Given the description of an element on the screen output the (x, y) to click on. 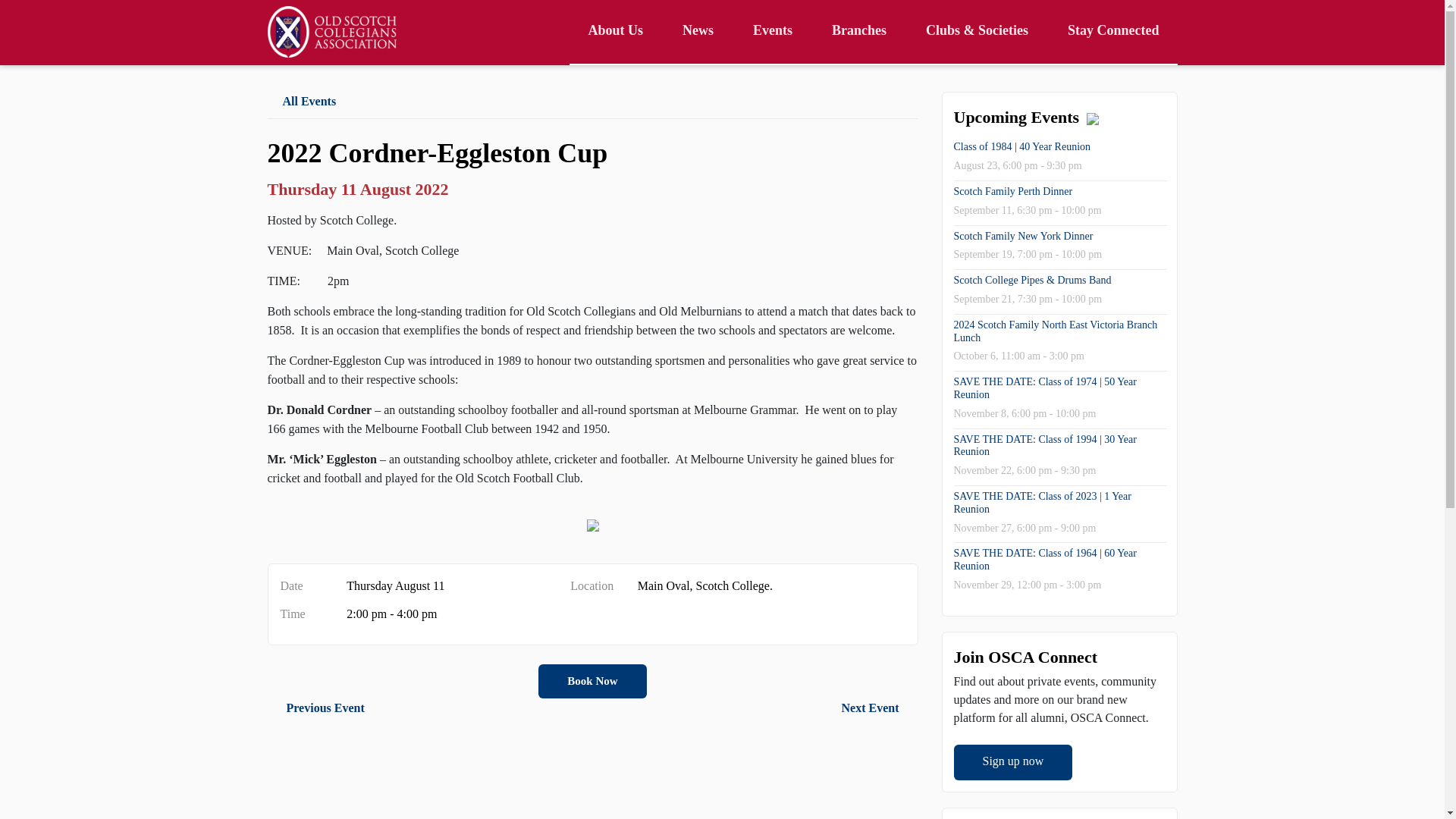
Scotch Family Perth Dinner (1013, 191)
All Events (591, 104)
News (697, 31)
About Us (615, 31)
Book Now (592, 681)
Stay Connected (1113, 31)
Events (772, 31)
Previous Event (315, 707)
Branches (858, 31)
Next Event (879, 707)
